Given the description of an element on the screen output the (x, y) to click on. 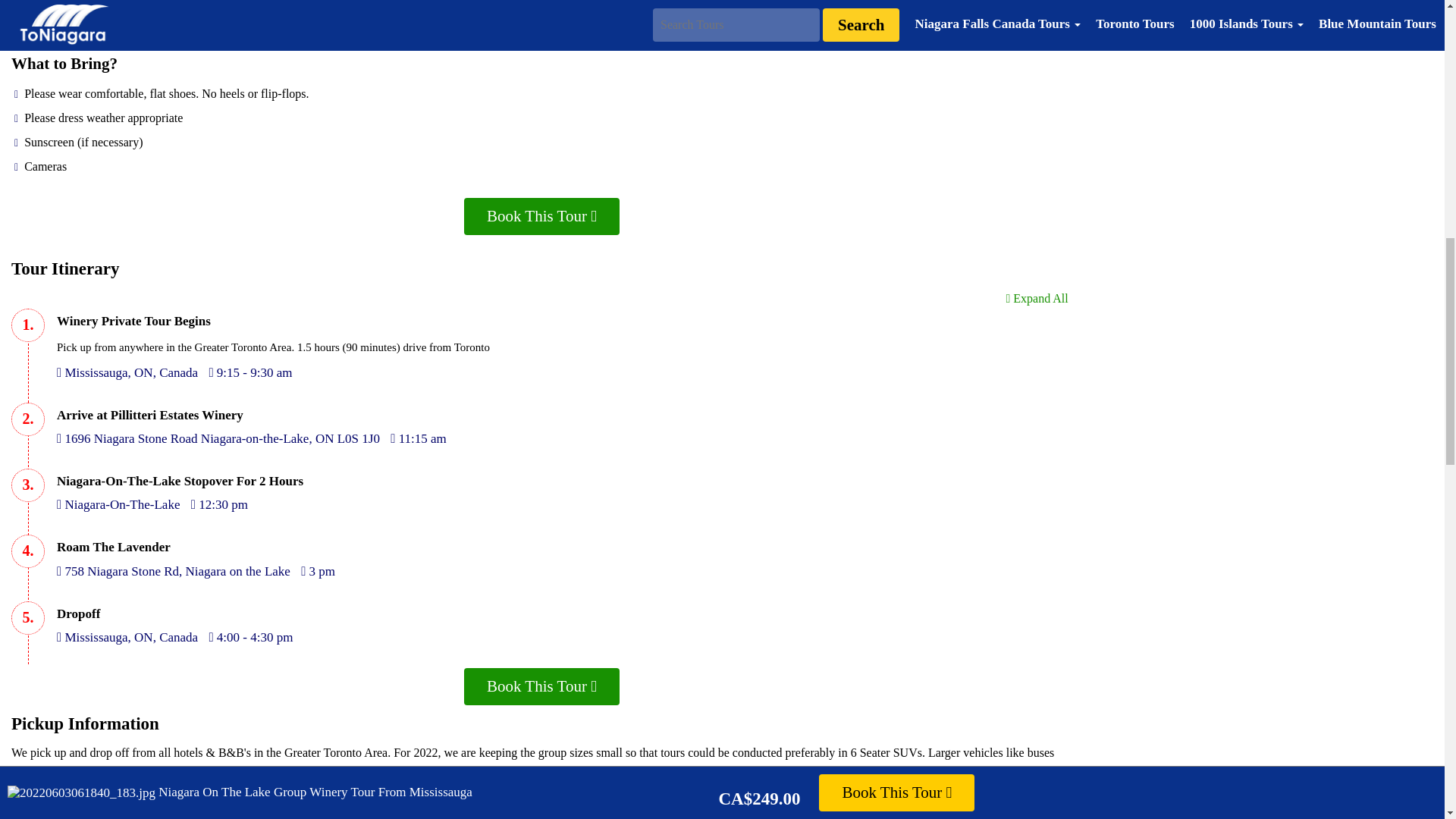
Expand All (1036, 297)
Book This Tour (542, 216)
Book This Tour (542, 686)
